Given the description of an element on the screen output the (x, y) to click on. 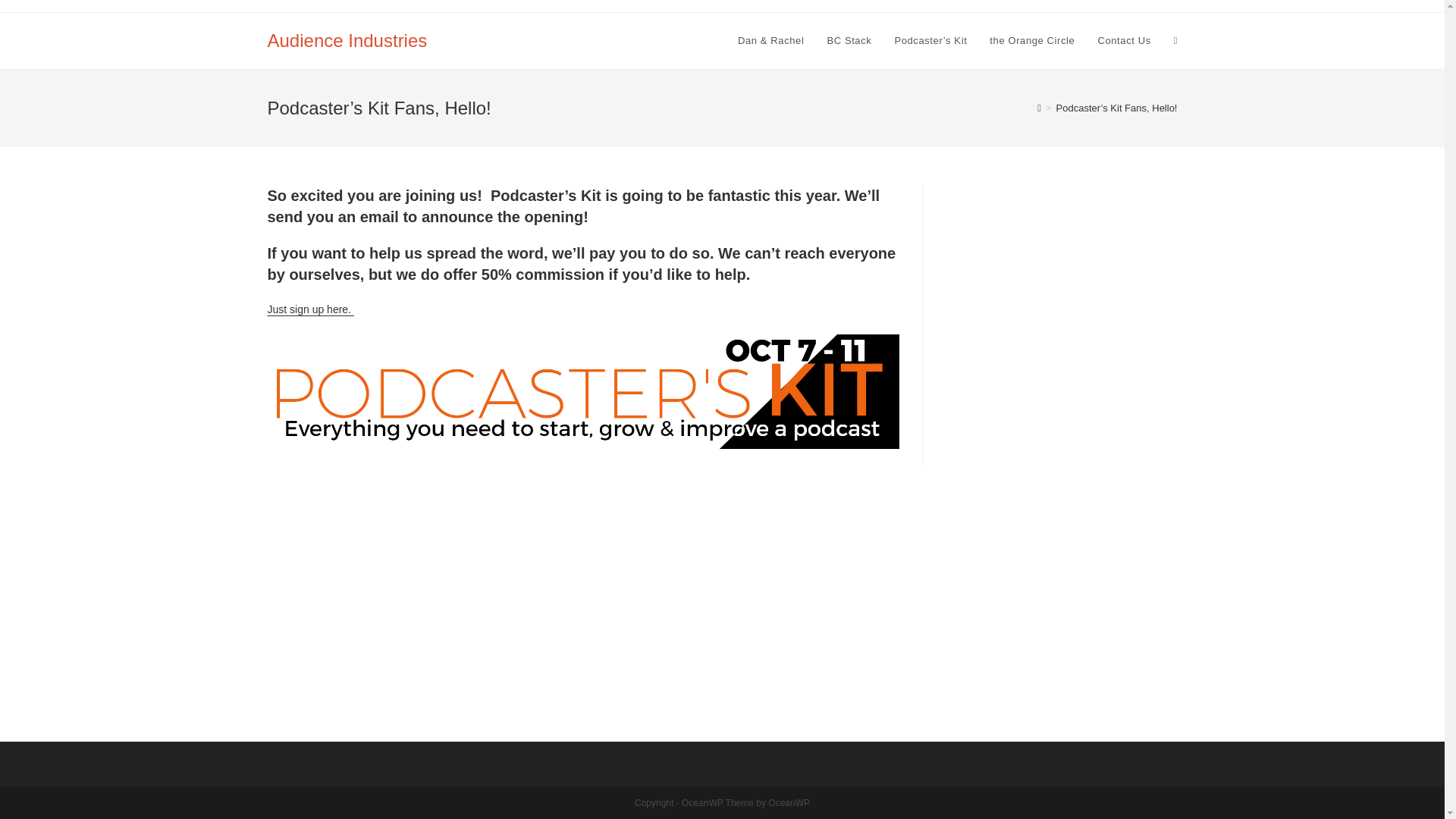
Contact Us (1123, 40)
Audience Industries (346, 40)
Just sign up here.  (309, 309)
BC Stack (848, 40)
the Orange Circle (1032, 40)
